Given the description of an element on the screen output the (x, y) to click on. 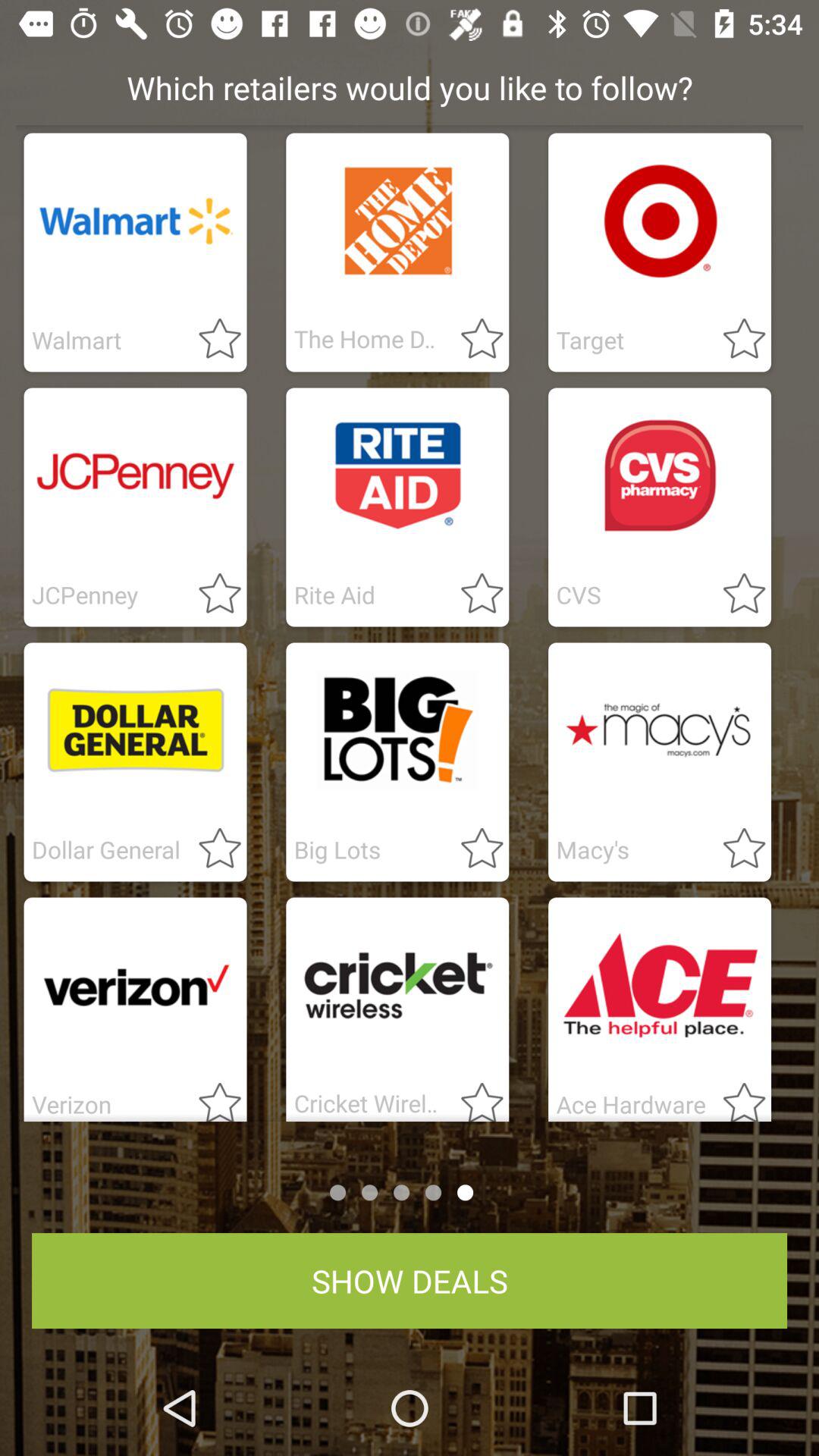
favorite (735, 849)
